Given the description of an element on the screen output the (x, y) to click on. 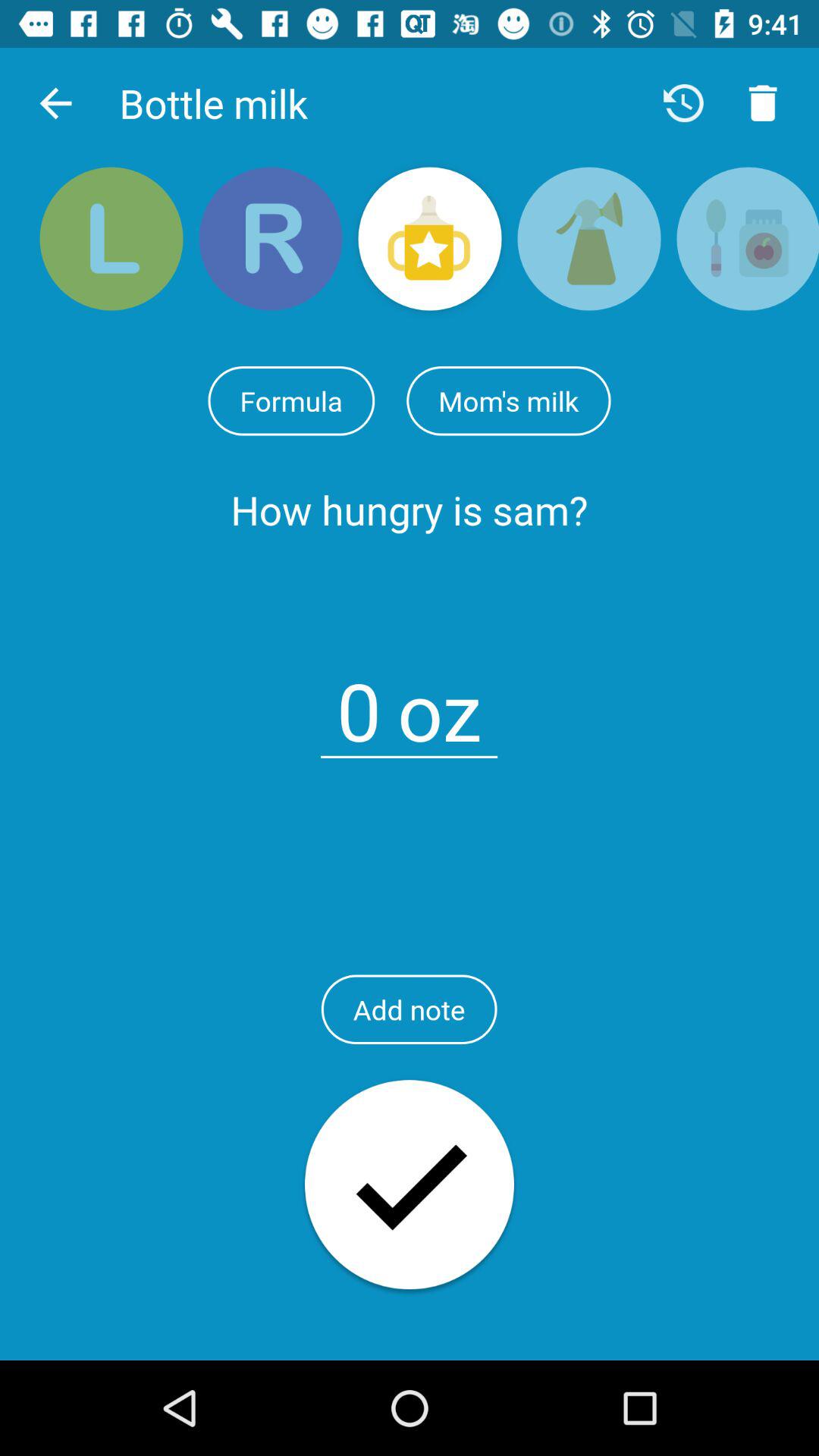
open item above the how hungry is (291, 400)
